Given the description of an element on the screen output the (x, y) to click on. 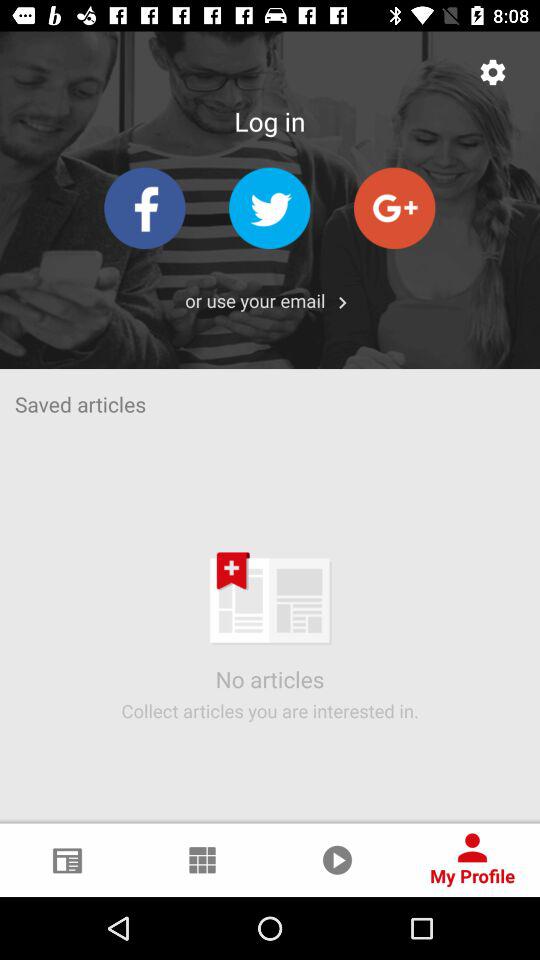
turn off the app above the saved articles app (255, 300)
